Given the description of an element on the screen output the (x, y) to click on. 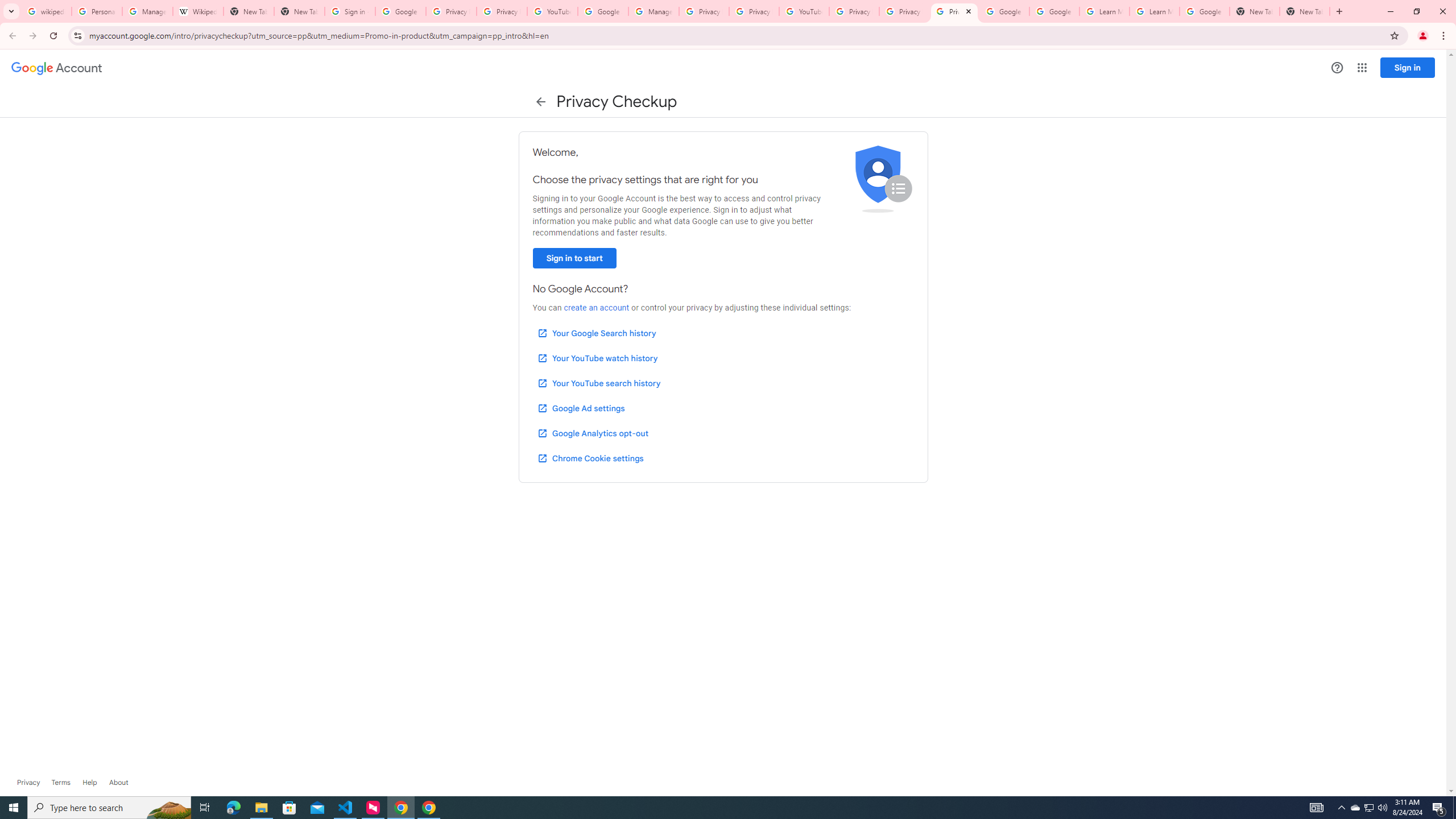
Sign in - Google Accounts (350, 11)
Google Account settings (56, 68)
create an account (595, 307)
New Tab (1254, 11)
Sign in to start (573, 258)
Google Analytics opt-out (592, 433)
